Given the description of an element on the screen output the (x, y) to click on. 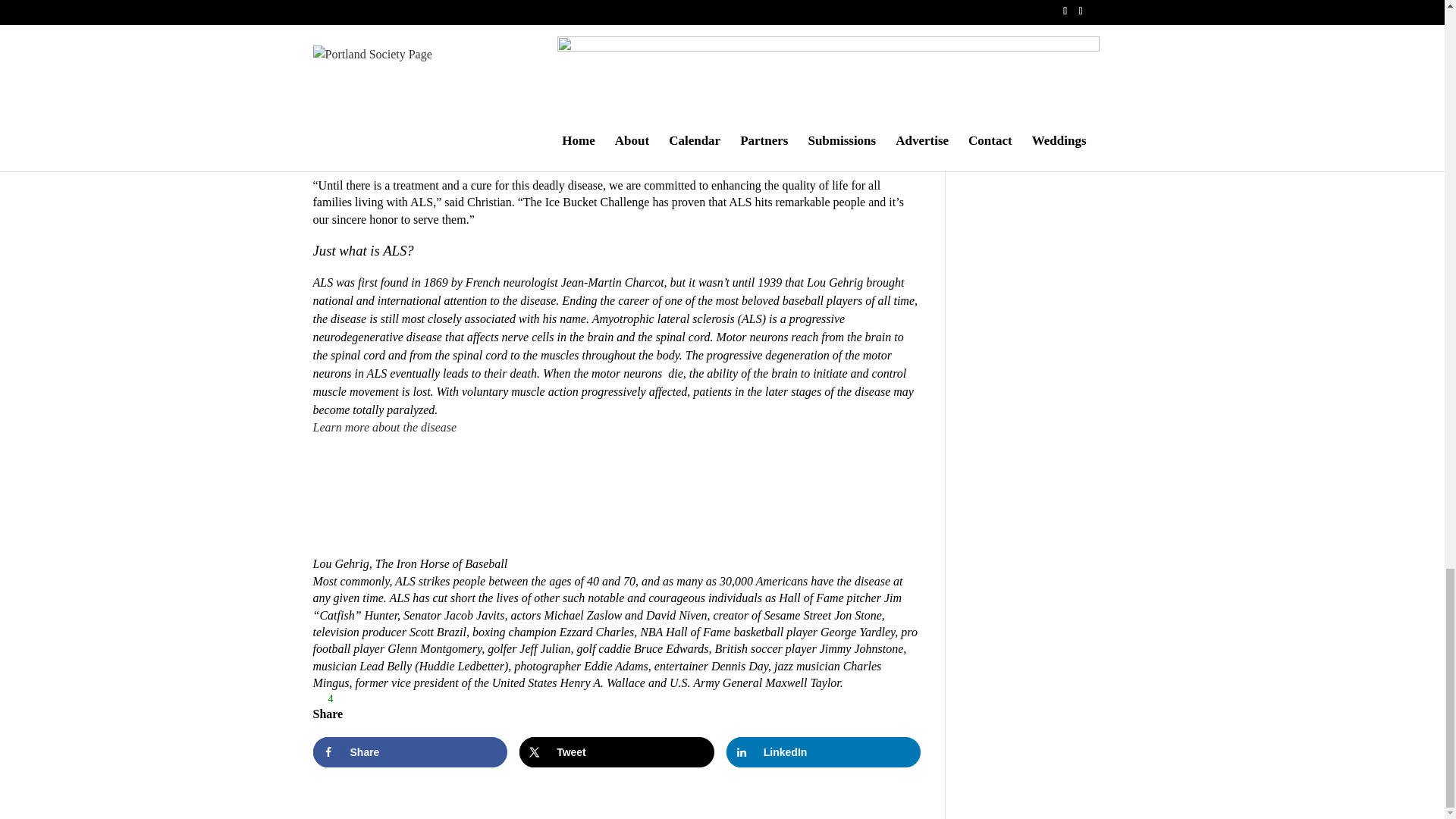
Share on X (616, 752)
Share (409, 752)
Learn more about the disease (385, 427)
Tweet (616, 752)
Share on LinkedIn (823, 752)
Share on Facebook (409, 752)
LinkedIn (823, 752)
